Given the description of an element on the screen output the (x, y) to click on. 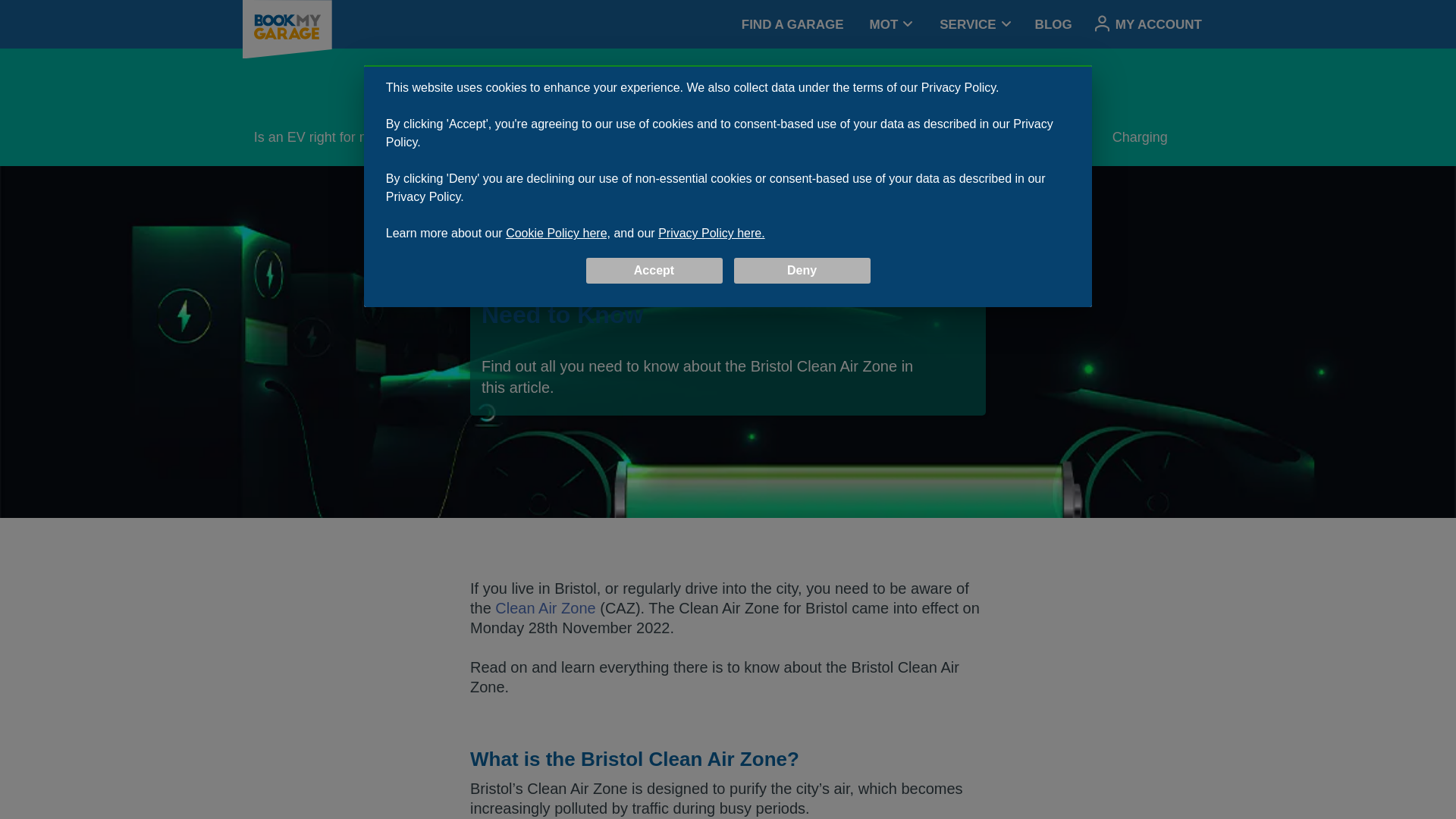
FIND A GARAGE (792, 24)
Learn more about our privacy policy (711, 232)
BookMyGarage Logo (287, 29)
Learn more about our cookie policy (727, 23)
